Given the description of an element on the screen output the (x, y) to click on. 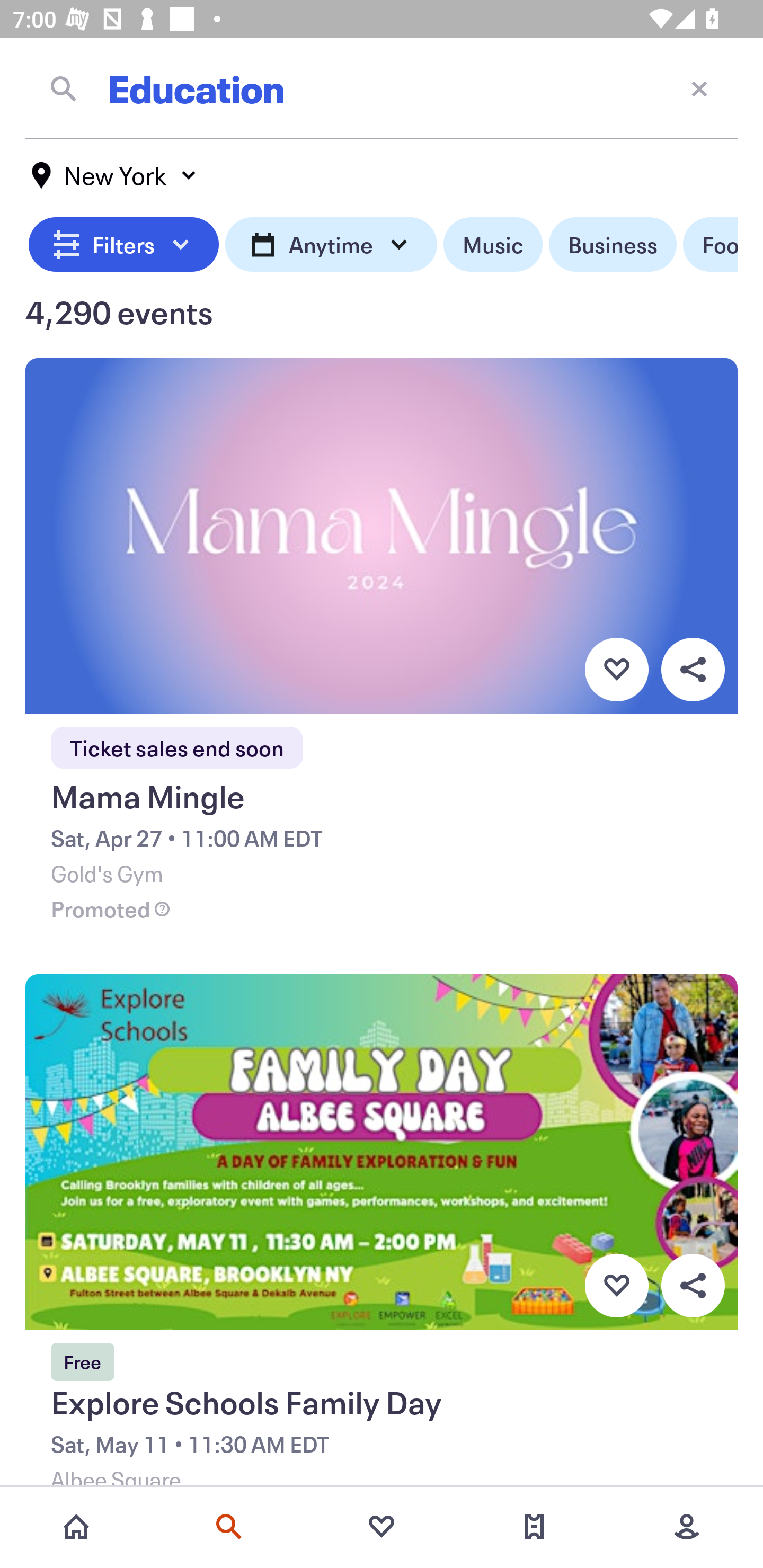
Education Close current screen (381, 88)
Close current screen (699, 88)
New York (114, 175)
Filters (123, 244)
Anytime (331, 244)
Music (492, 244)
Business (612, 244)
Favorite button (616, 669)
Overflow menu button (692, 669)
Favorite button (616, 1285)
Overflow menu button (692, 1285)
Home (76, 1526)
Search events (228, 1526)
Favorites (381, 1526)
Tickets (533, 1526)
More (686, 1526)
